Given the description of an element on the screen output the (x, y) to click on. 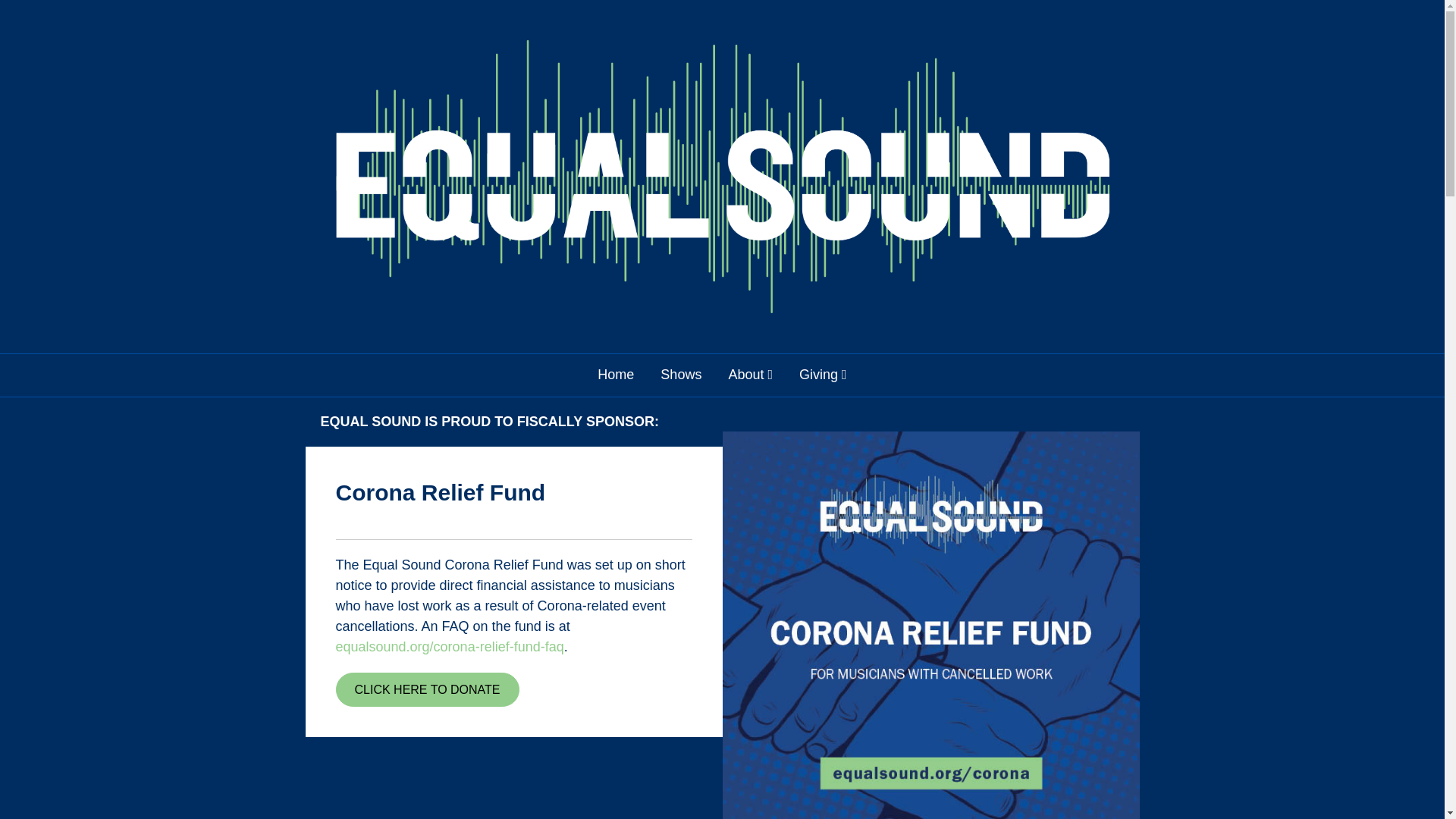
CLICK HERE TO DONATE (426, 689)
Home (615, 374)
About (750, 374)
Giving (823, 374)
Shows (681, 374)
